Given the description of an element on the screen output the (x, y) to click on. 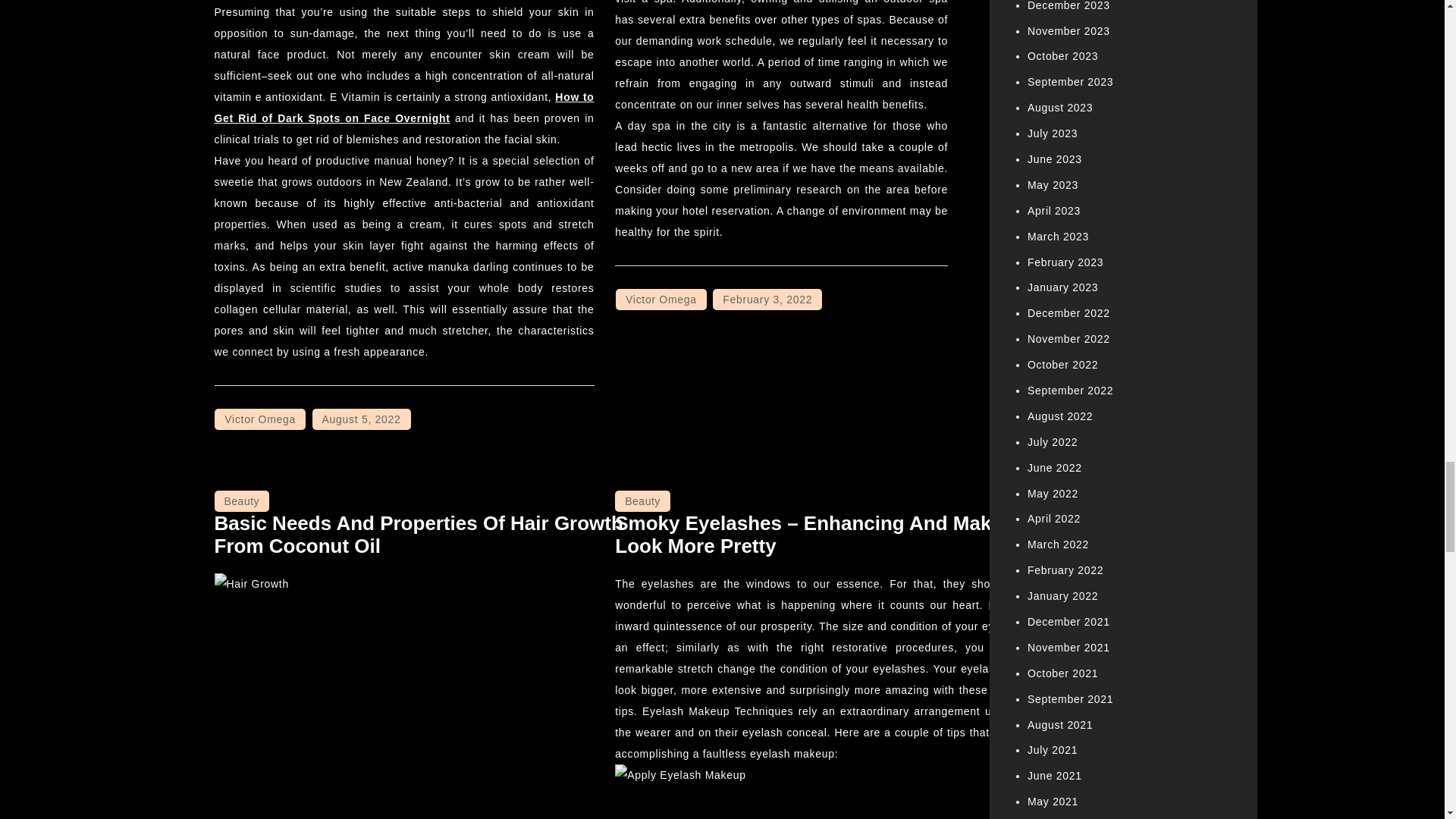
Basic Needs And Properties Of Hair Growth From Coconut Oil (418, 534)
Victor Omega (660, 299)
How to Get Rid of Dark Spots on Face Overnight (404, 107)
Victor Omega (259, 418)
February 3, 2022 (767, 299)
August 5, 2022 (361, 418)
Beauty (241, 500)
